Given the description of an element on the screen output the (x, y) to click on. 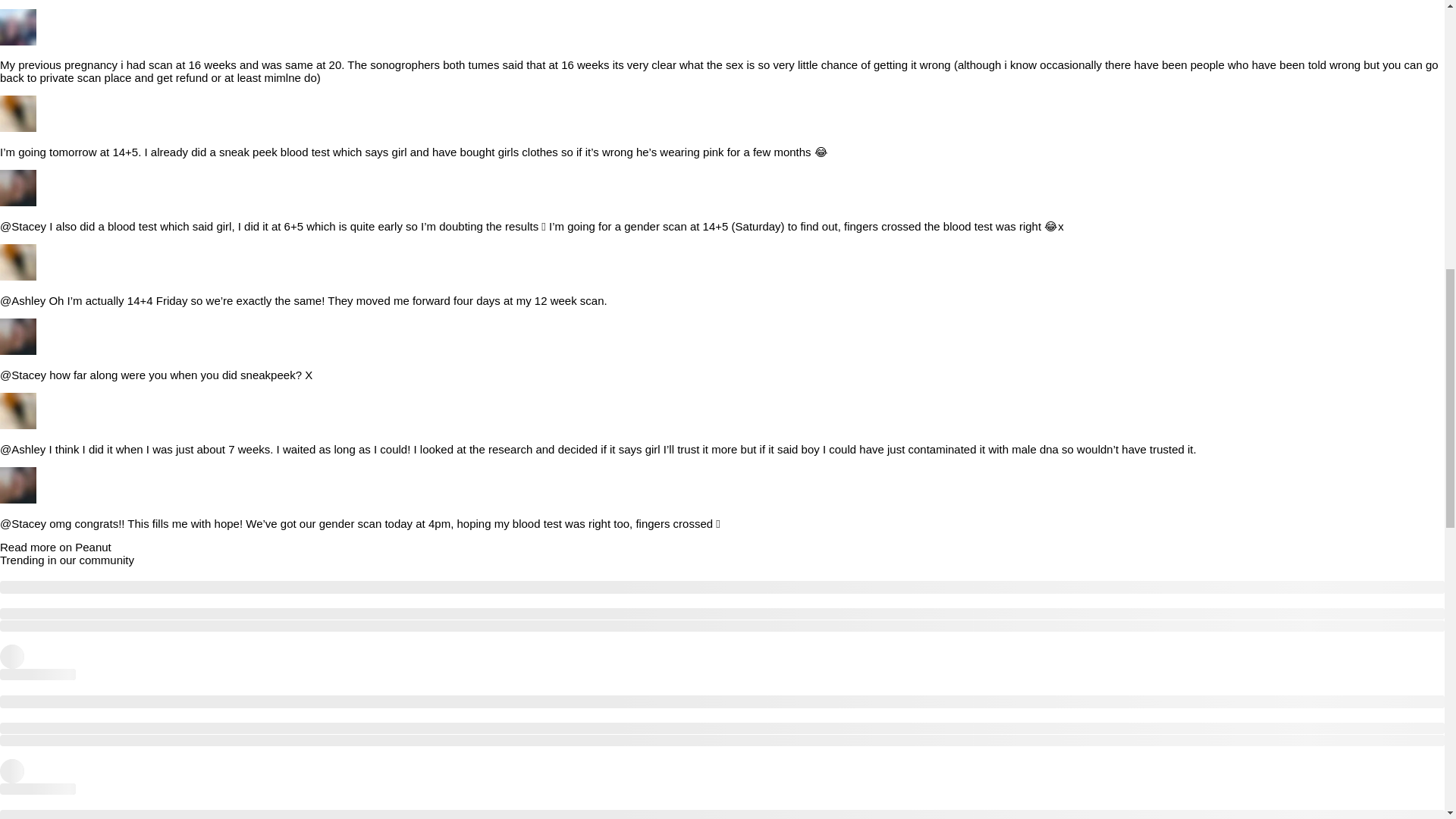
Read more on Peanut (56, 546)
